Given the description of an element on the screen output the (x, y) to click on. 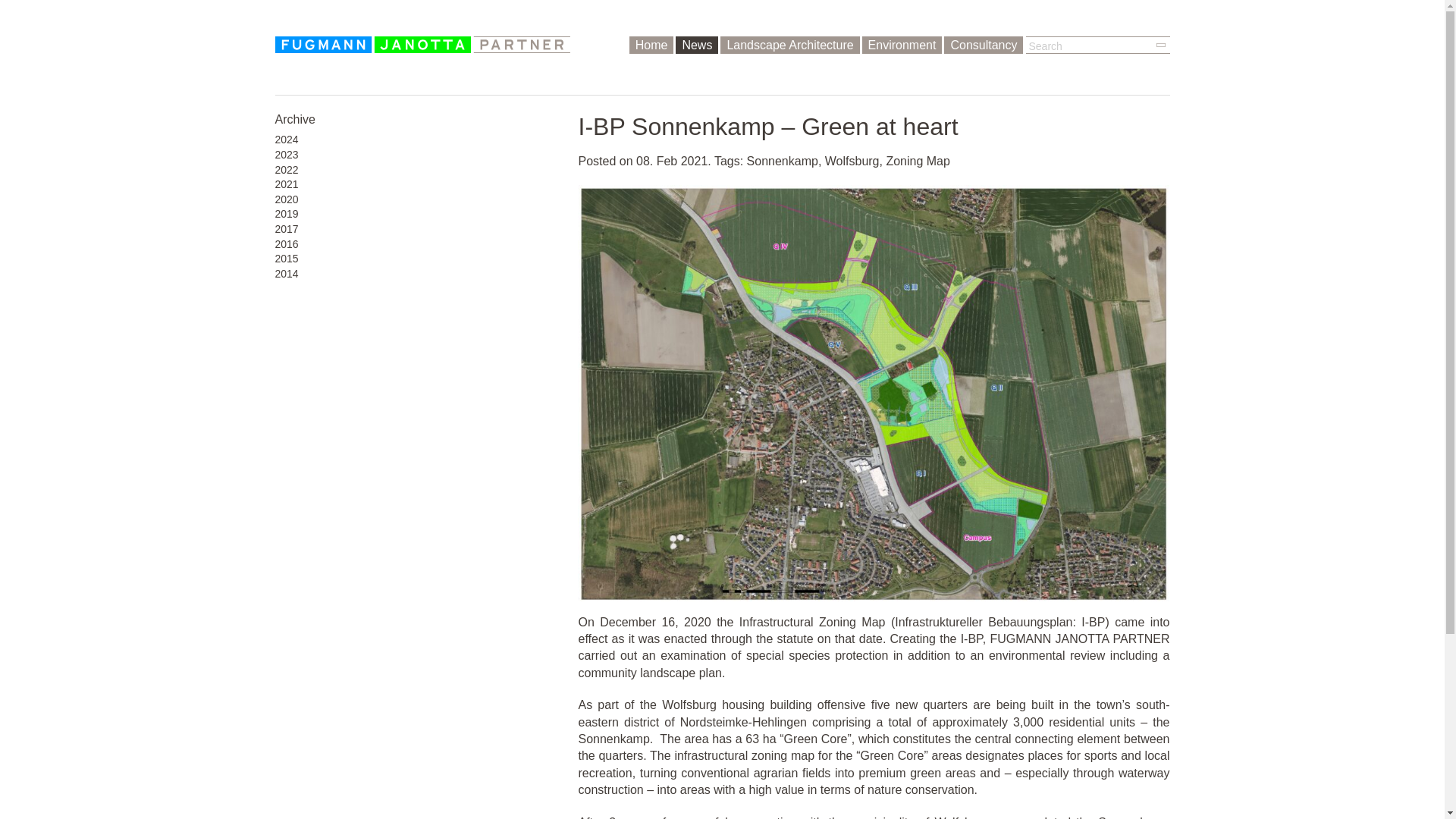
Search (1157, 45)
Landscape Architecture (789, 45)
Home (651, 45)
News (696, 45)
